Given the description of an element on the screen output the (x, y) to click on. 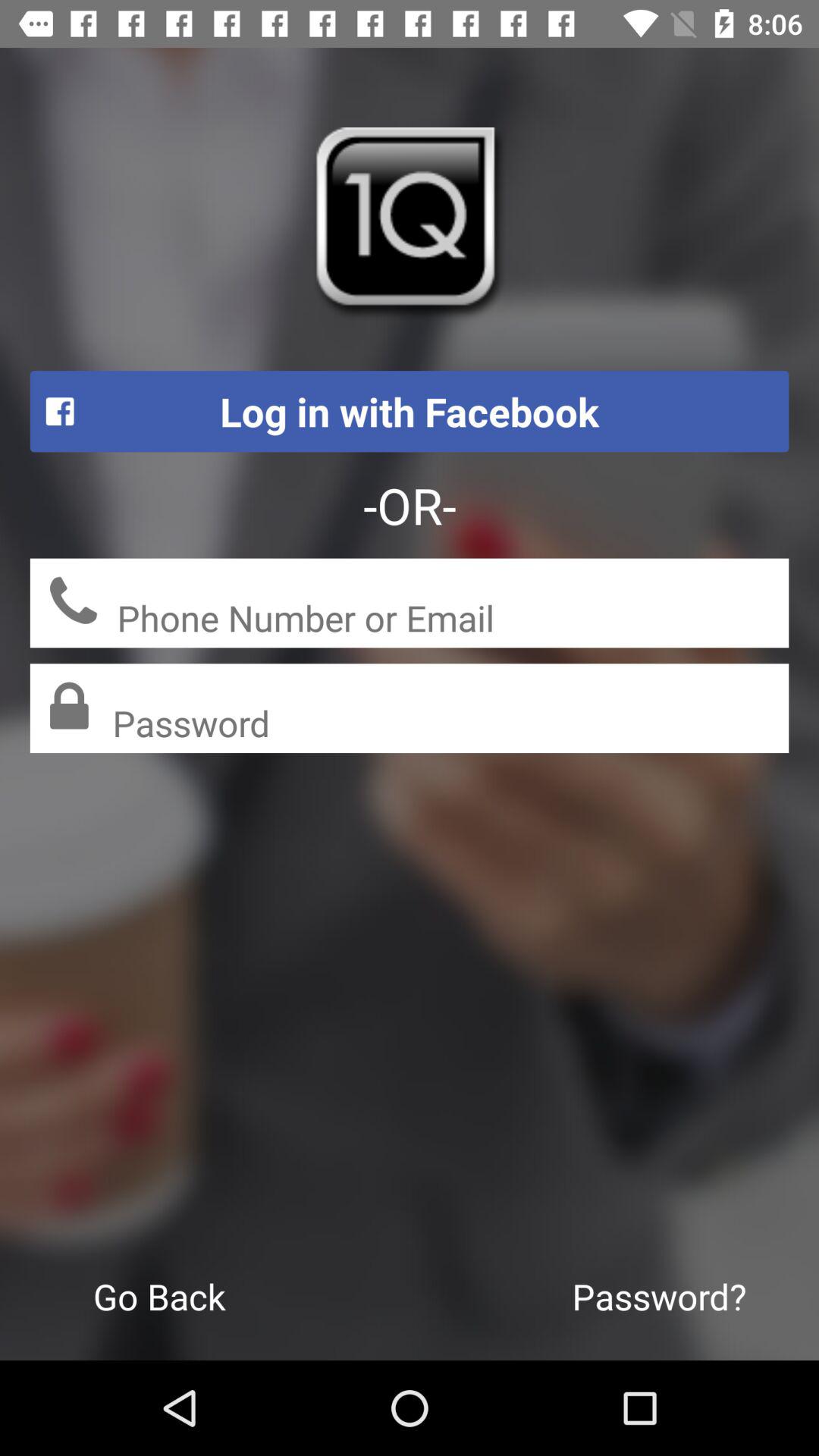
launch the item next to the go back item (658, 1296)
